Given the description of an element on the screen output the (x, y) to click on. 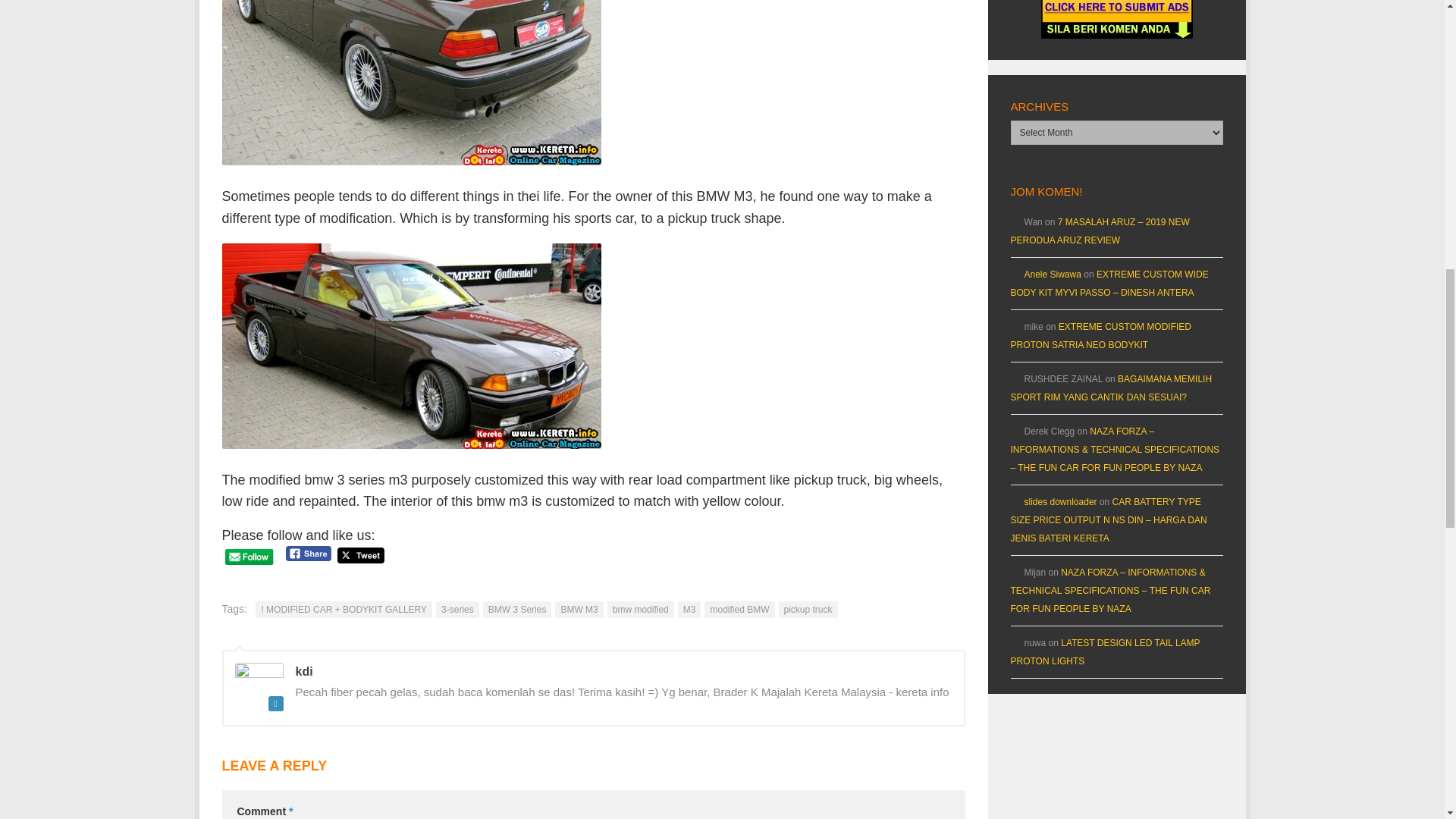
slides downloader (1059, 501)
BMW M3 (578, 609)
LATEST DESIGN LED TAIL LAMP PROTON LIGHTS (1104, 652)
Tweet (360, 555)
modified BMW (739, 609)
pickup truck (807, 609)
BMW 3 Series (517, 609)
M3 (689, 609)
EXTREME CUSTOM MODIFIED PROTON SATRIA NEO BODYKIT (1100, 335)
Anele Siwawa (1051, 274)
